Given the description of an element on the screen output the (x, y) to click on. 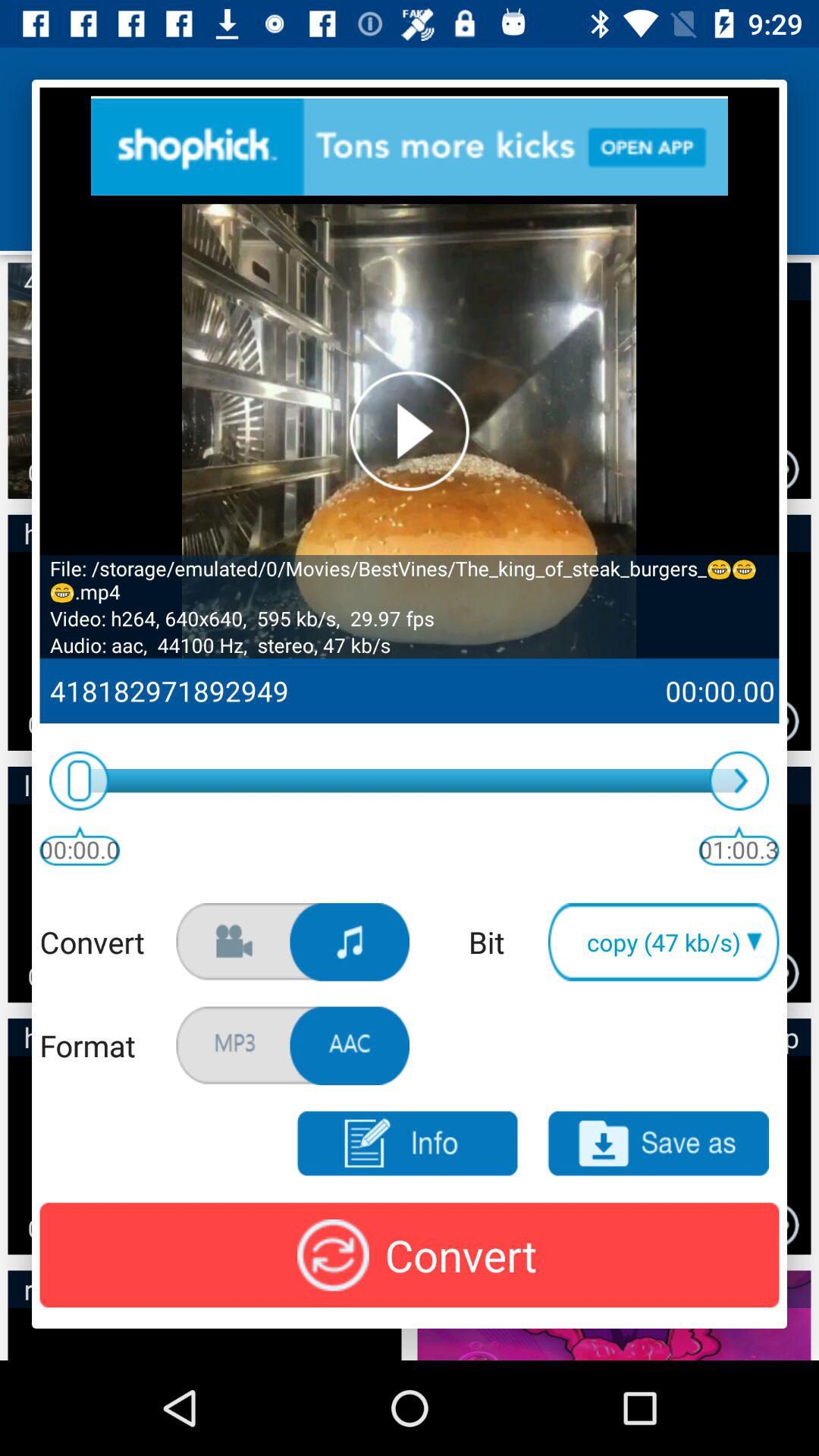
open info (406, 1143)
